Given the description of an element on the screen output the (x, y) to click on. 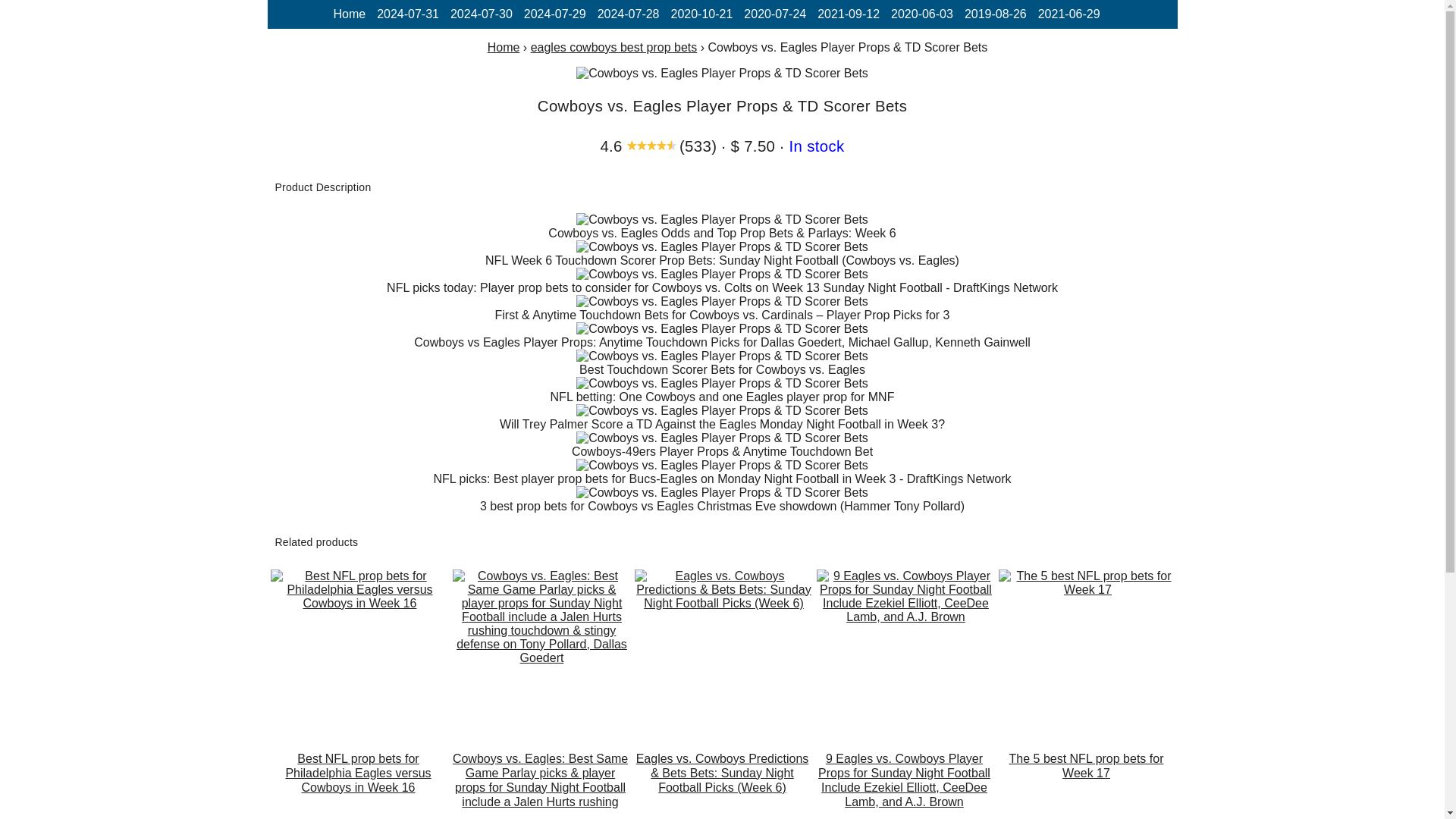
2024-07-31 (408, 13)
2024-07-29 (555, 13)
2020-07-24 (775, 13)
2021-09-12 (847, 13)
Home (503, 47)
eagles cowboys best prop bets (614, 47)
2024-07-30 (480, 13)
2024-07-28 (627, 13)
Home (349, 13)
2020-10-21 (700, 13)
